Given the description of an element on the screen output the (x, y) to click on. 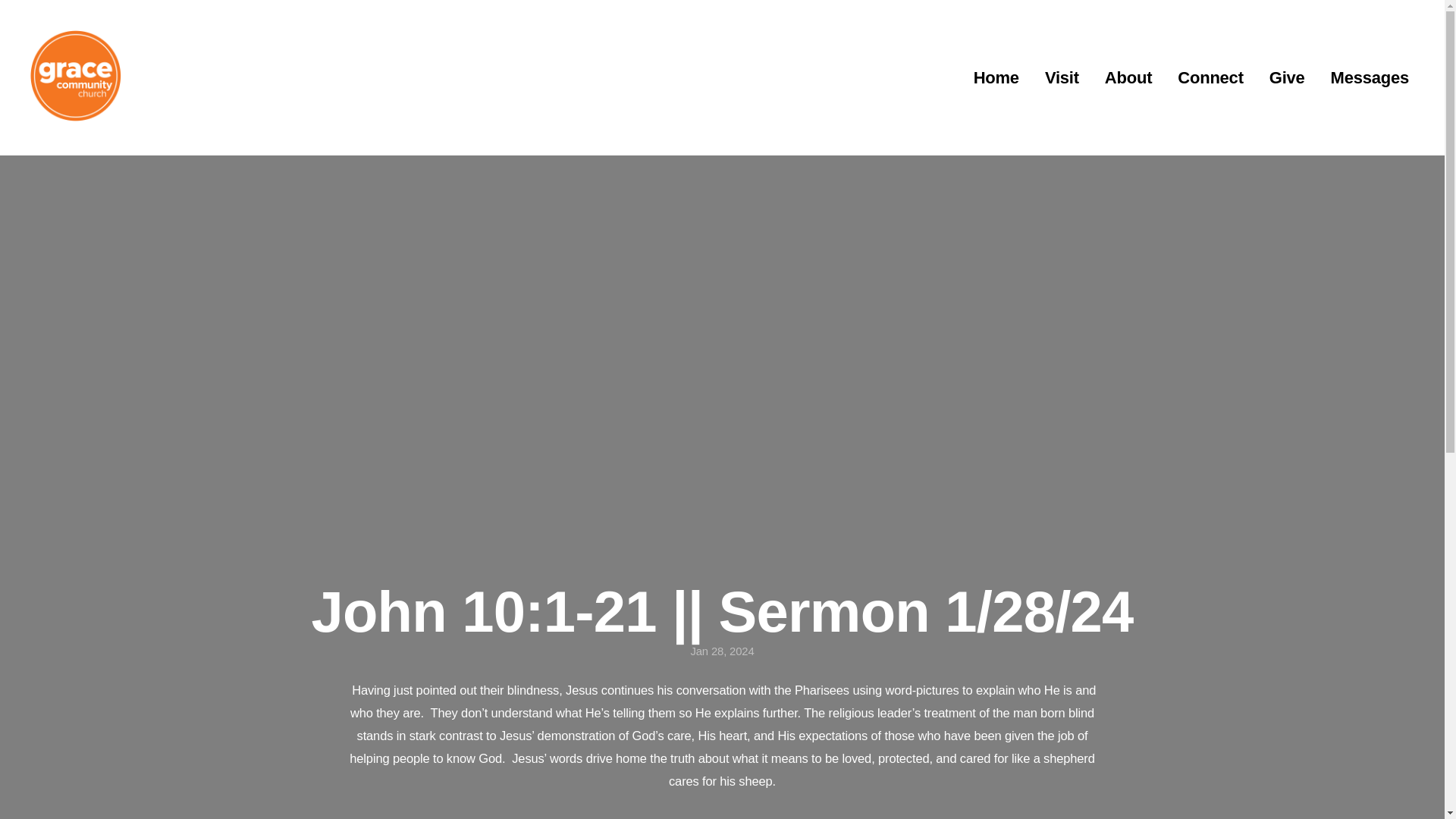
Visit (1061, 78)
Messages (1370, 78)
Give (1286, 78)
Connect (1209, 78)
About (1128, 78)
Home (996, 78)
